Given the description of an element on the screen output the (x, y) to click on. 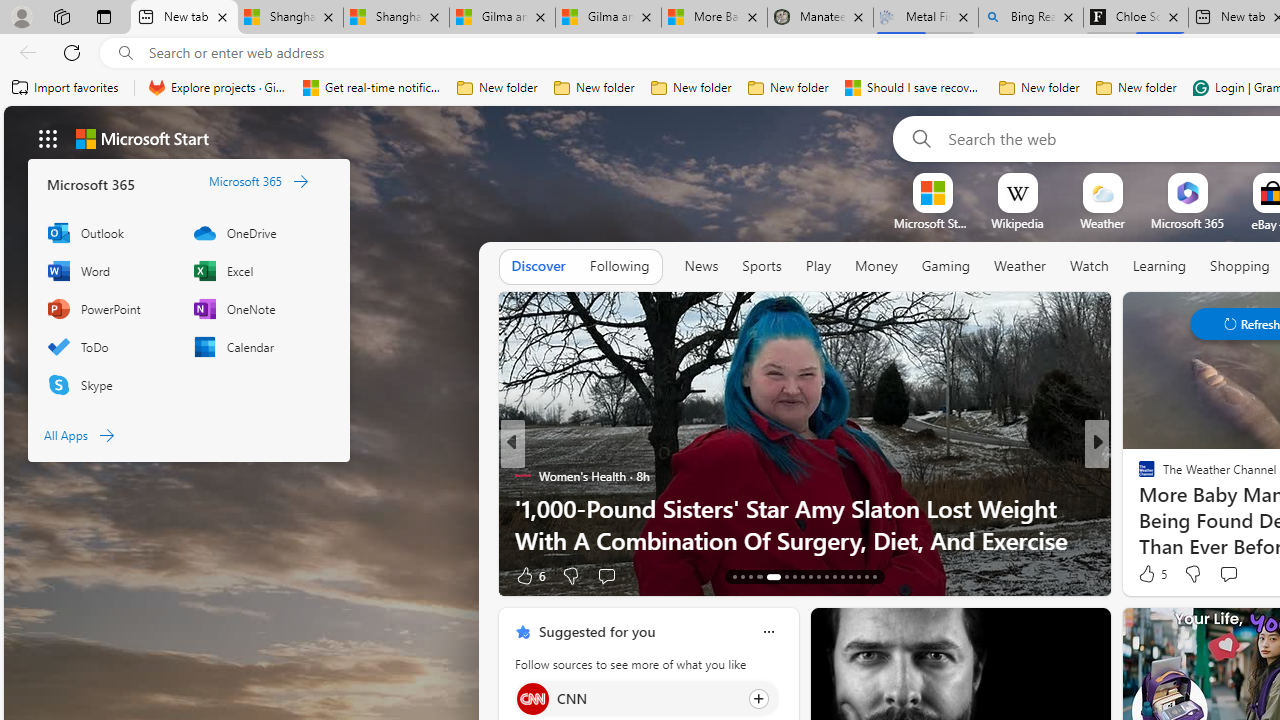
Import favorites (65, 88)
146 Like (1151, 574)
AutomationID: tab-23 (825, 576)
View comments 247 Comment (1234, 575)
5 Like (1151, 574)
ETNT Mind+Body (1138, 475)
AutomationID: tab-21 (810, 576)
Skype (110, 384)
AutomationID: tab-25 (842, 576)
